Given the description of an element on the screen output the (x, y) to click on. 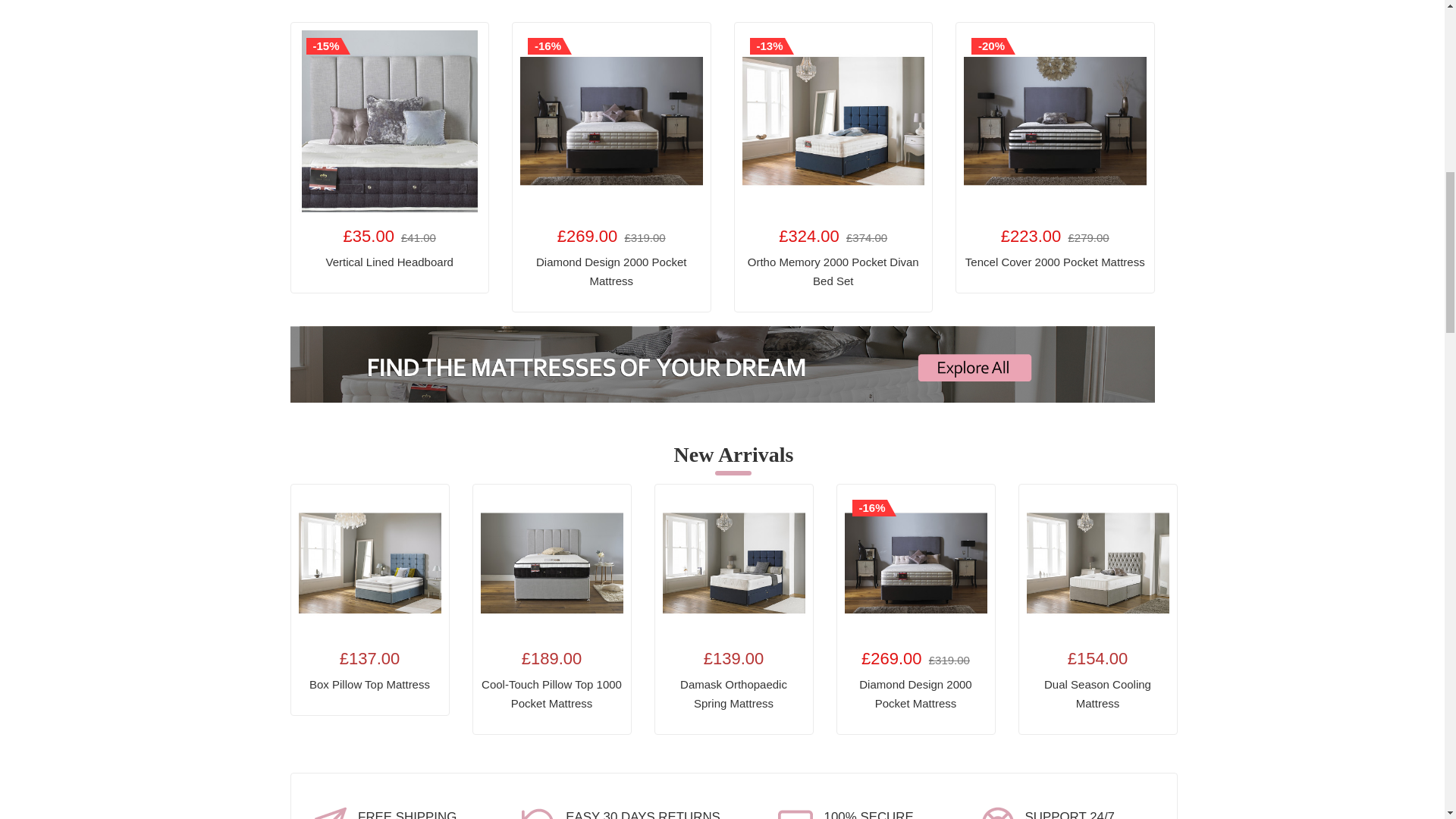
Ortho Memory 2000 Pocket Divan Bed Set (832, 121)
Diamond design 2000 pocket Mattress (915, 563)
Cool-touch Pillow Top 1000 pocket Mattress (551, 563)
Box Pillow Top Mattress (369, 563)
Tencel Cover 2000 Pocket Mattress (1055, 121)
Dual Season Cooling Mattress (1097, 563)
Damask Orthopaedic Spring Mattress (733, 563)
Diamond design 2000 pocket Mattress (611, 121)
Vertical lined headboard (389, 121)
